Given the description of an element on the screen output the (x, y) to click on. 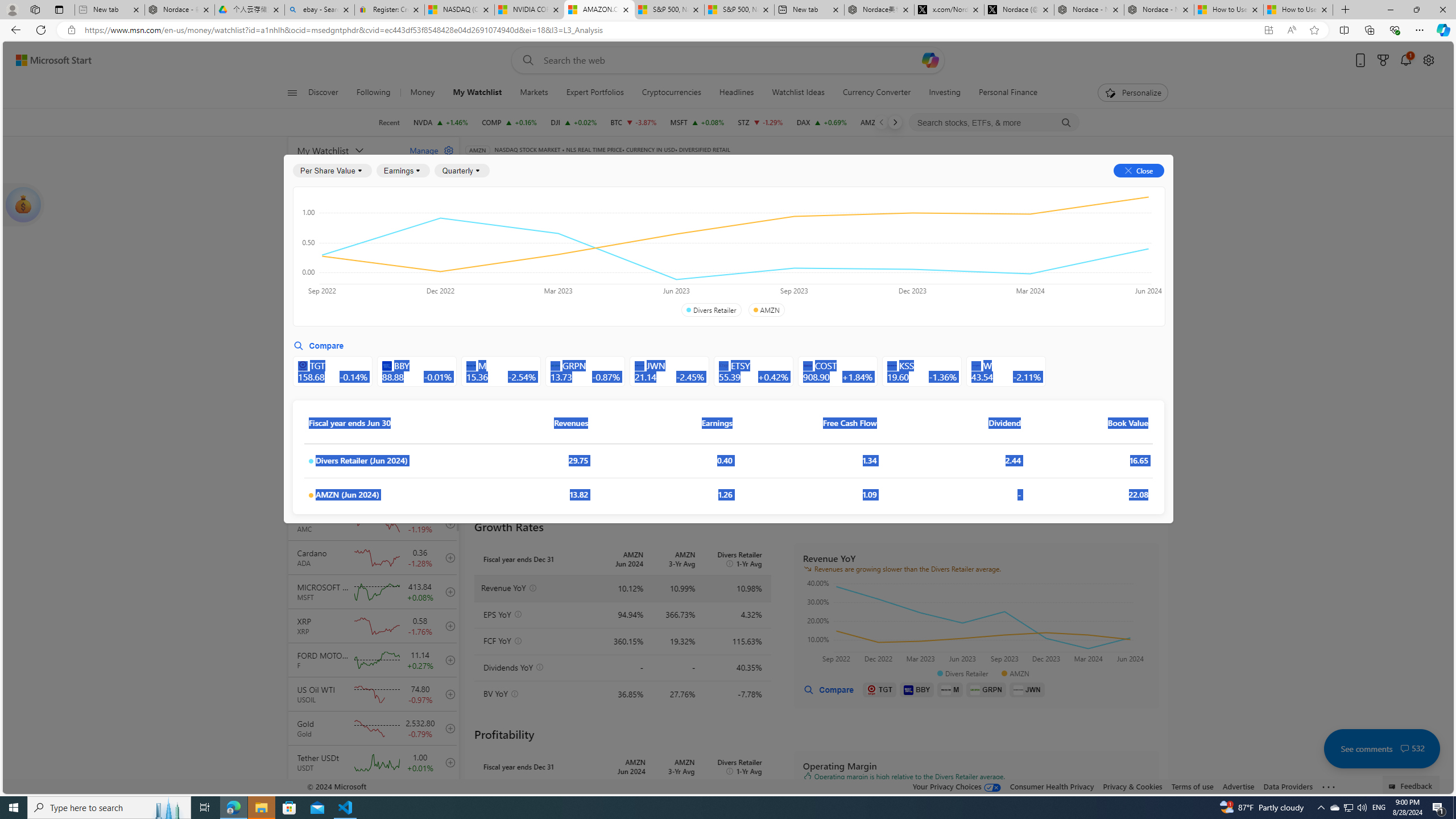
Consumer Health Privacy (1051, 786)
MSFT MICROSOFT CORPORATION increase 413.84 +0.35 +0.08% (696, 122)
Annual (491, 286)
Summary (789, 188)
Watchlist Ideas (797, 92)
Skip to footer (46, 59)
How to Use a Monitor With Your Closed Laptop (1297, 9)
Terms of use (1192, 786)
Class: autoSuggestIcon-DS-EntryPoint1-2 (976, 365)
DJI DOW increase 41,250.50 +9.98 +0.02% (573, 122)
Open settings (1427, 60)
